Given the description of an element on the screen output the (x, y) to click on. 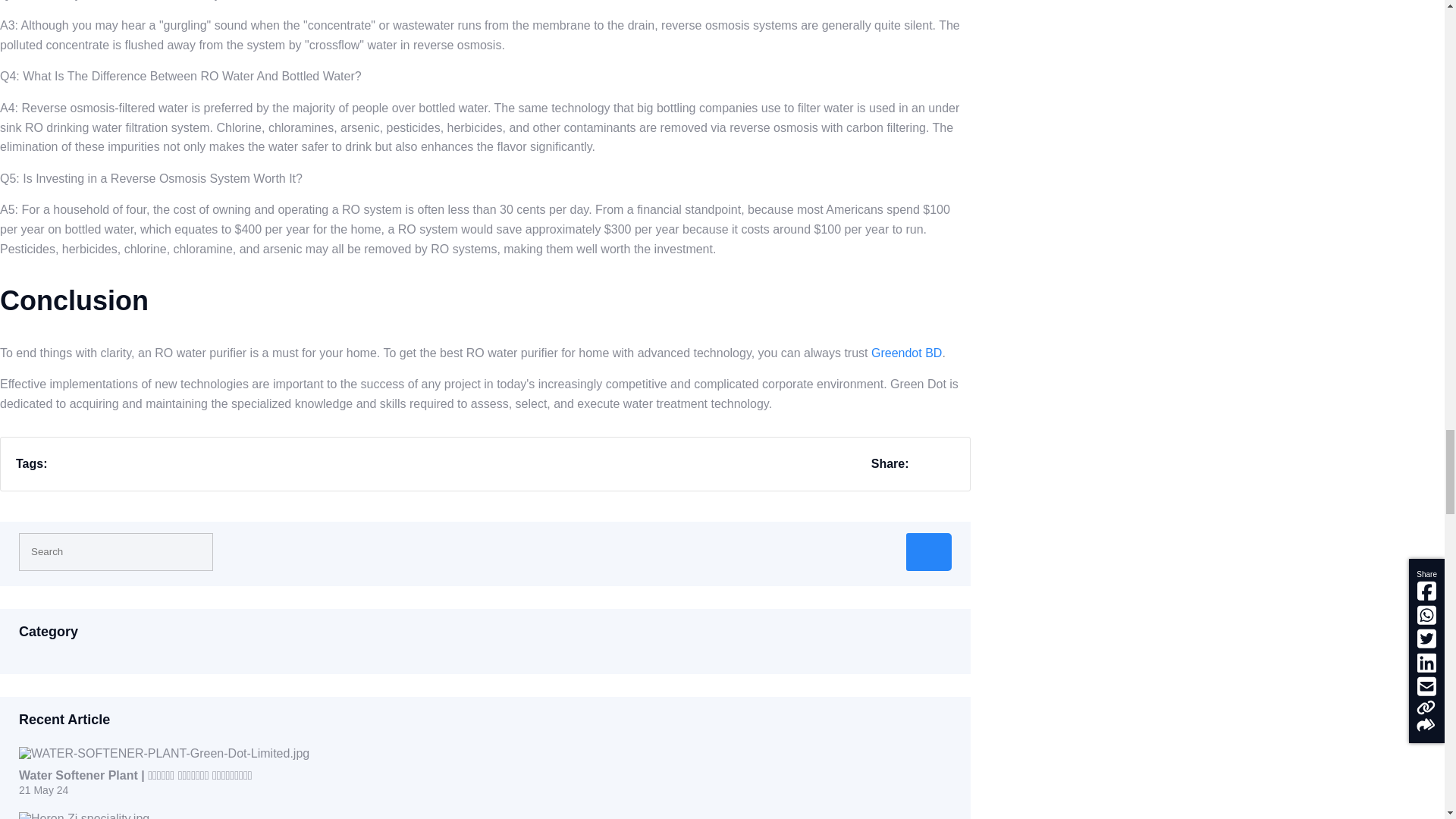
WATER-SOFTENER-PLANT-Green-Dot-Limited.jpg (163, 753)
Heron Zi speciality.jpg (83, 815)
